Given the description of an element on the screen output the (x, y) to click on. 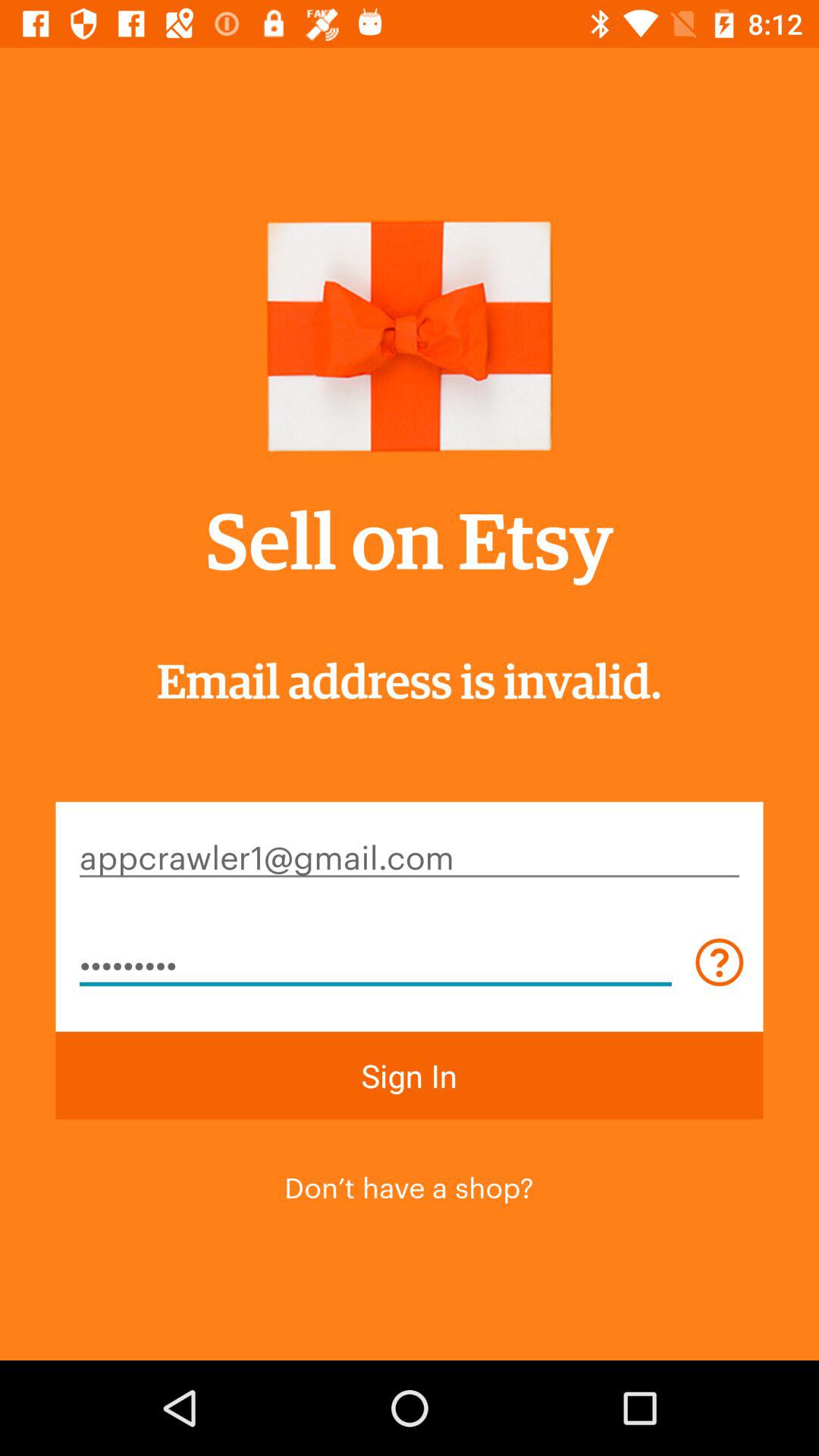
scroll until the don t have (408, 1185)
